Given the description of an element on the screen output the (x, y) to click on. 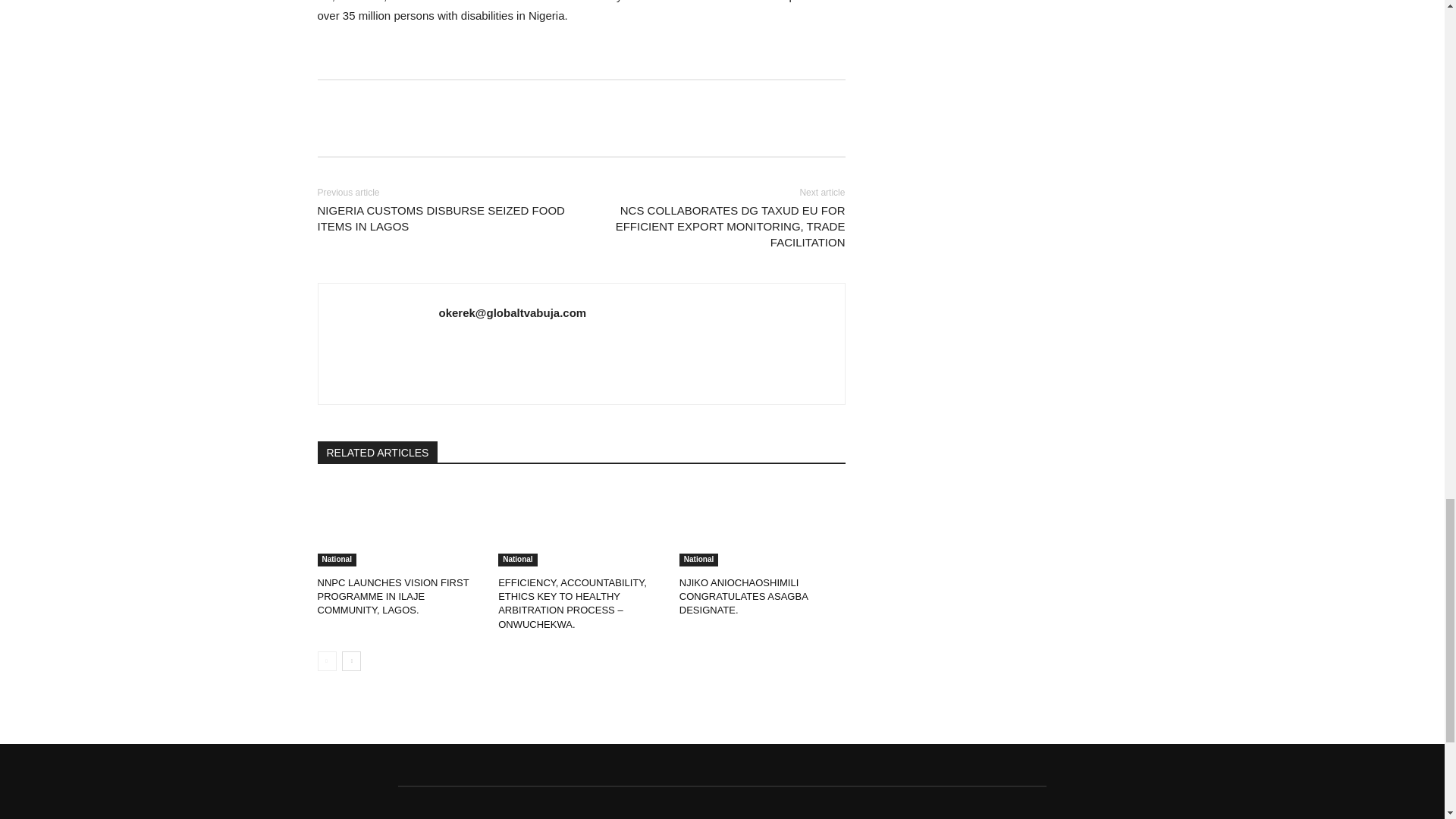
NJIKO ANIOCHAOSHIMILI CONGRATULATES ASAGBA DESIGNATE. (762, 525)
